Given the description of an element on the screen output the (x, y) to click on. 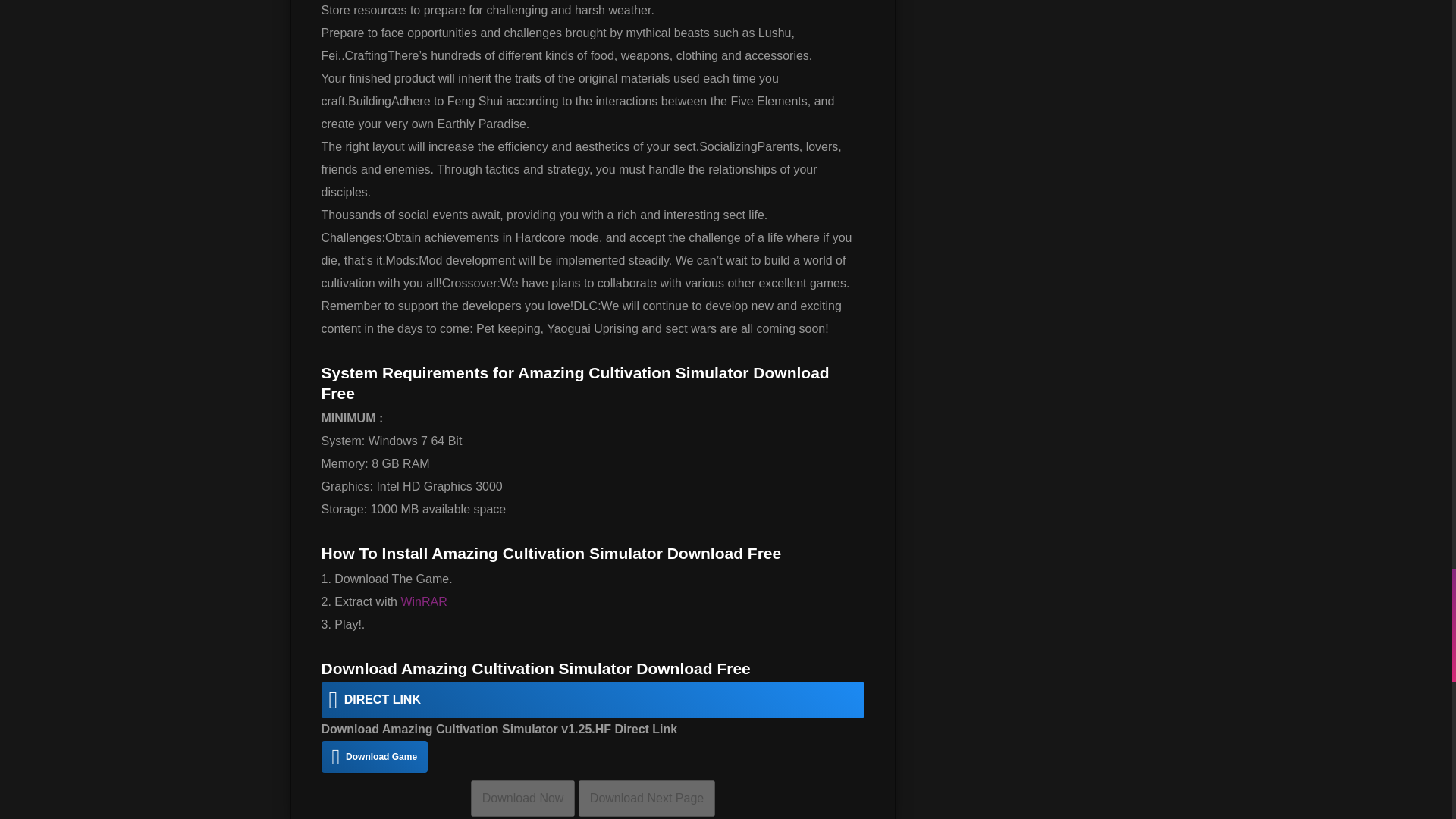
Download Now Download Next Page (592, 797)
Download Game (374, 757)
Download Now (522, 798)
WinRAR (423, 601)
Download Next Page (646, 798)
